Given the description of an element on the screen output the (x, y) to click on. 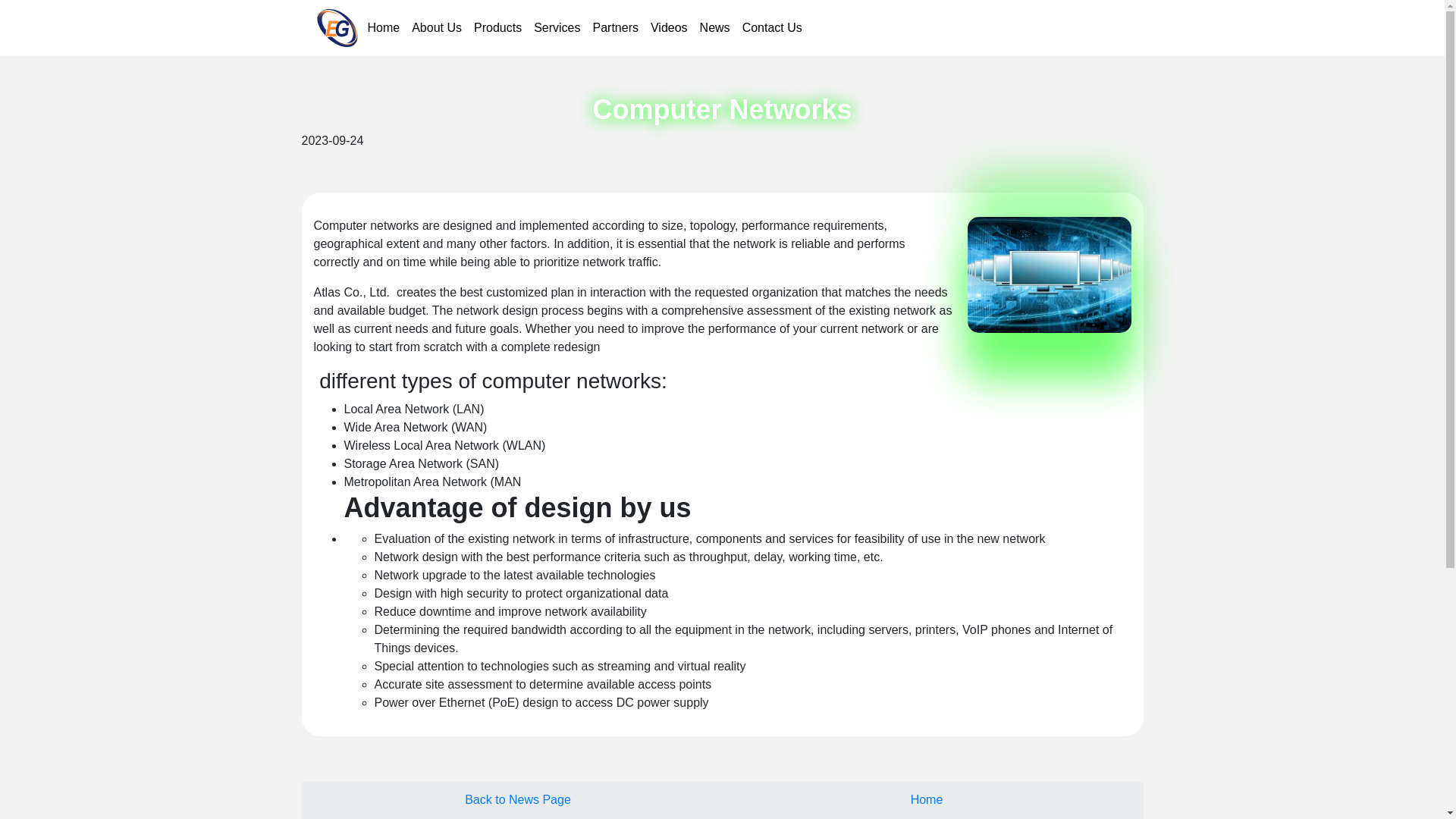
Home (927, 799)
Contact Us (772, 28)
Home (383, 28)
Back to News Page (517, 799)
Partners (615, 28)
About Us (436, 28)
News (715, 28)
Videos (669, 28)
Services (556, 28)
Products (497, 28)
